Given the description of an element on the screen output the (x, y) to click on. 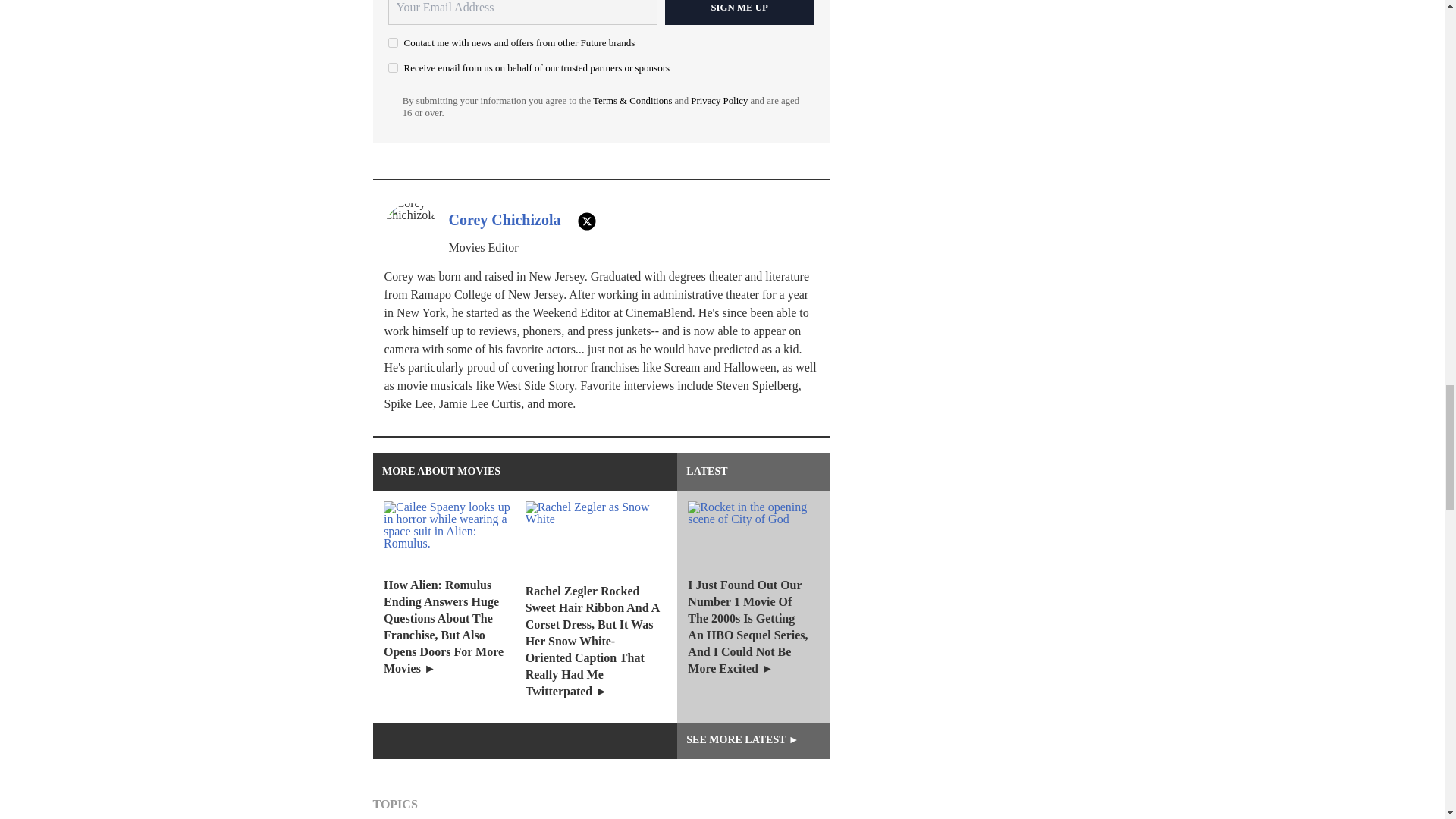
Sign me up (739, 12)
on (392, 67)
on (392, 42)
